Given the description of an element on the screen output the (x, y) to click on. 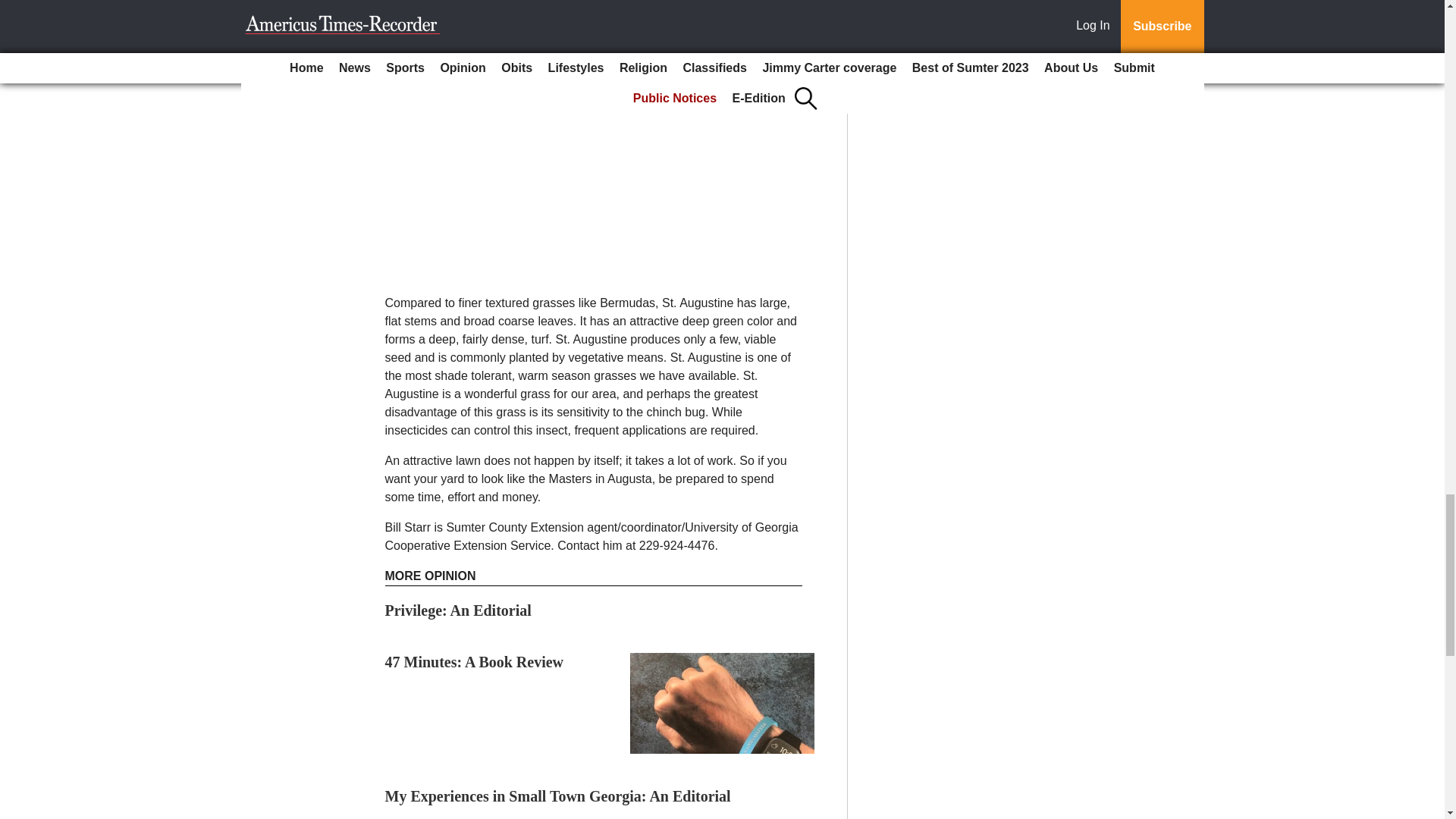
Privilege: An Editorial (458, 610)
My Experiences in Small Town Georgia: An Editorial (557, 795)
47 Minutes: A Book Review (474, 661)
47 Minutes: A Book Review (474, 661)
Privilege: An Editorial (458, 610)
My Experiences in Small Town Georgia: An Editorial (557, 795)
